Given the description of an element on the screen output the (x, y) to click on. 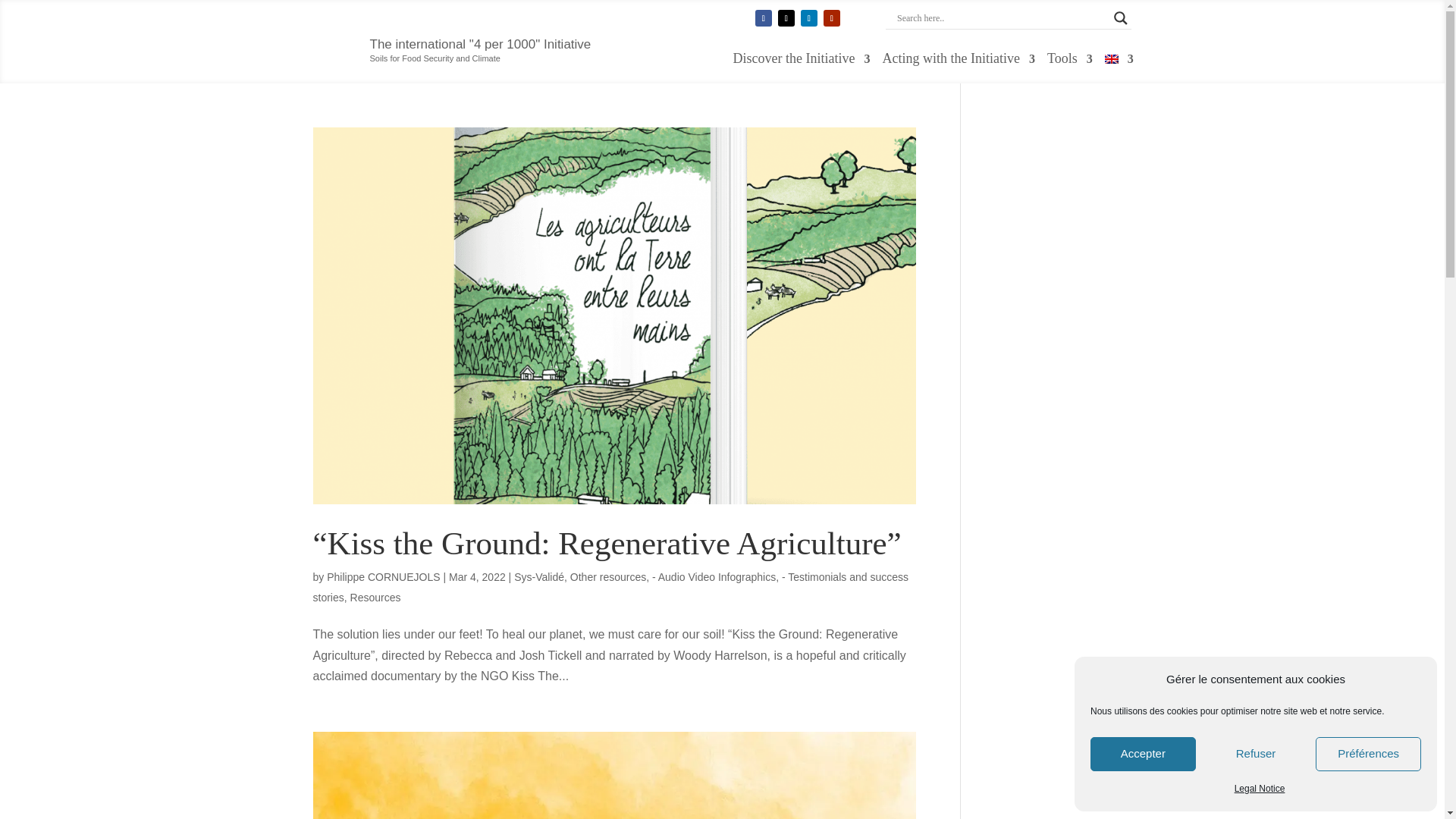
Follow on Youtube (832, 17)
Posts by Philippe CORNUEJOLS (382, 576)
Refuser (1256, 754)
Philippe CORNUEJOLS (382, 576)
The international "4 per 1000" Initiative (480, 43)
Follow on X (785, 17)
Tools (1069, 61)
Follow on LinkedIn (808, 17)
Follow on Facebook (763, 17)
Accepter (1142, 754)
Legal Notice (1259, 788)
Discover the Initiative (801, 61)
Acting with the Initiative (958, 61)
